Given the description of an element on the screen output the (x, y) to click on. 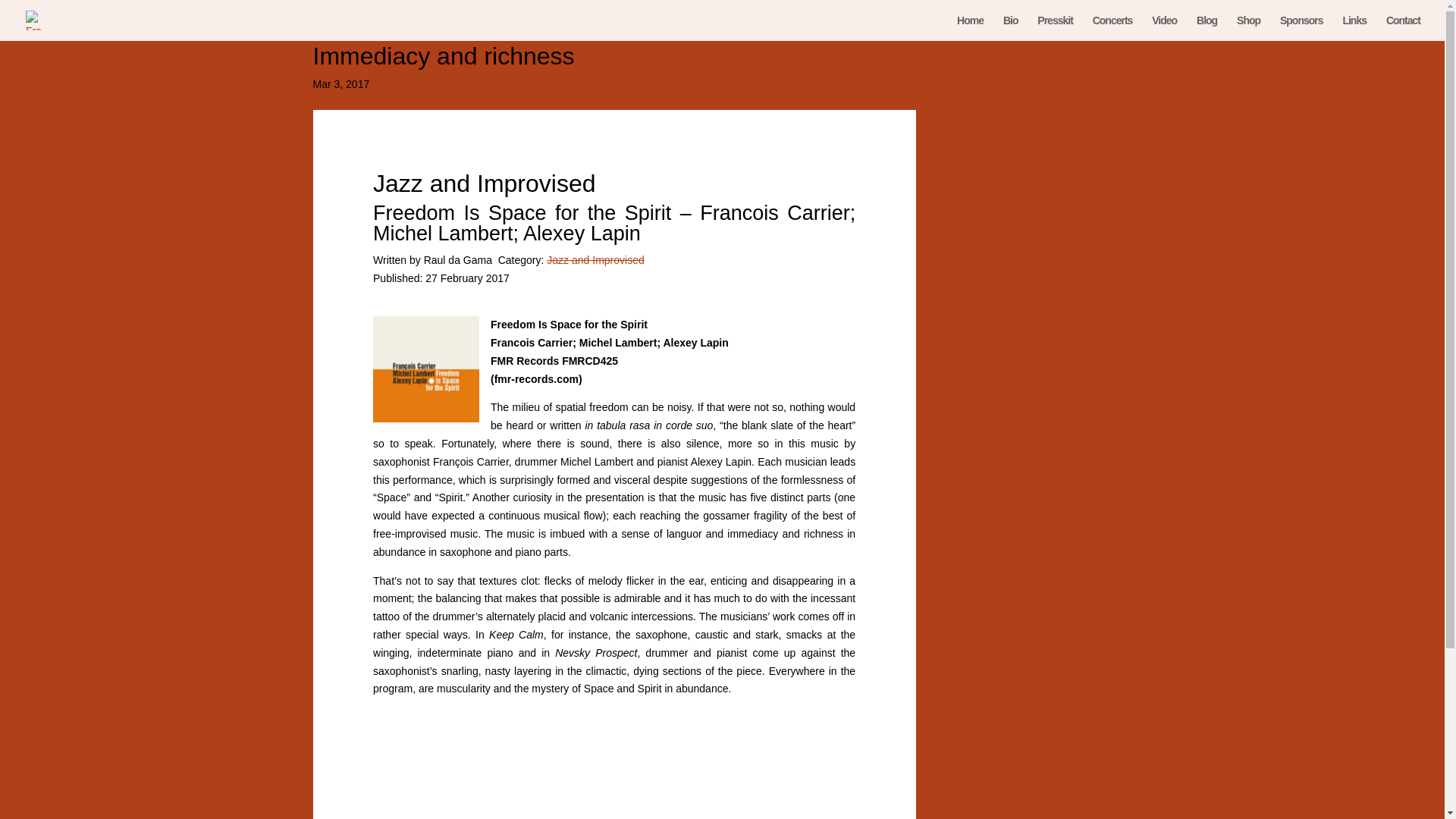
Jazz and Improvised (595, 259)
Blog (1206, 27)
Sponsors (1301, 27)
Contact (1403, 27)
Presskit (1053, 27)
Links (1354, 27)
Home (970, 27)
Bio (1010, 27)
Shop (1248, 27)
Concerts (1112, 27)
Video (1163, 27)
